Given the description of an element on the screen output the (x, y) to click on. 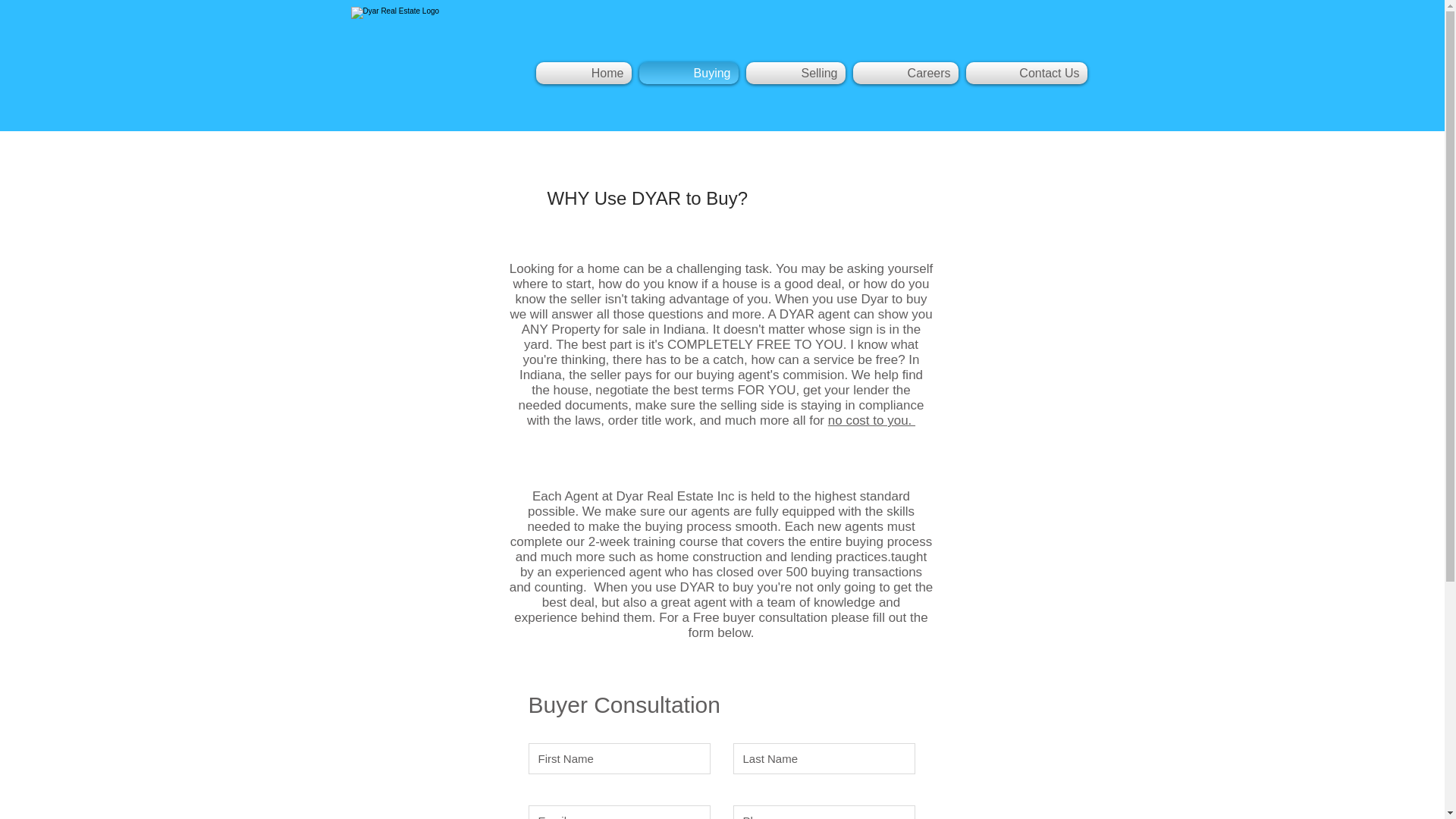
Careers (905, 73)
Home (584, 73)
Contact Us (1023, 73)
Buying (688, 73)
Selling (794, 73)
